Given the description of an element on the screen output the (x, y) to click on. 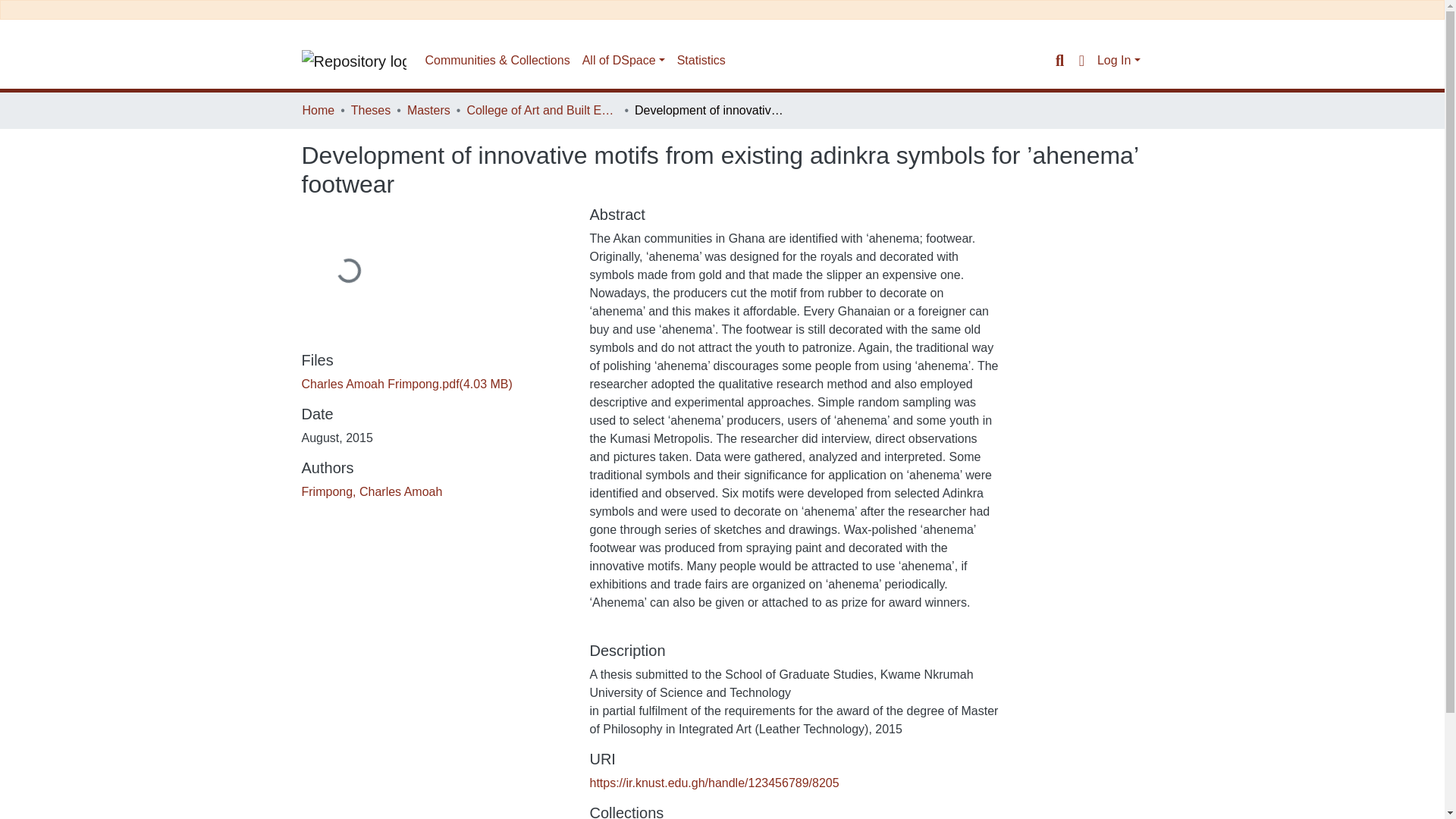
Frimpong, Charles Amoah (371, 491)
Home (317, 110)
Masters (428, 110)
Log In (1118, 60)
Theses (370, 110)
All of DSpace (623, 60)
Search (1058, 60)
Statistics (701, 60)
Language switch (1081, 60)
Statistics (701, 60)
